Given the description of an element on the screen output the (x, y) to click on. 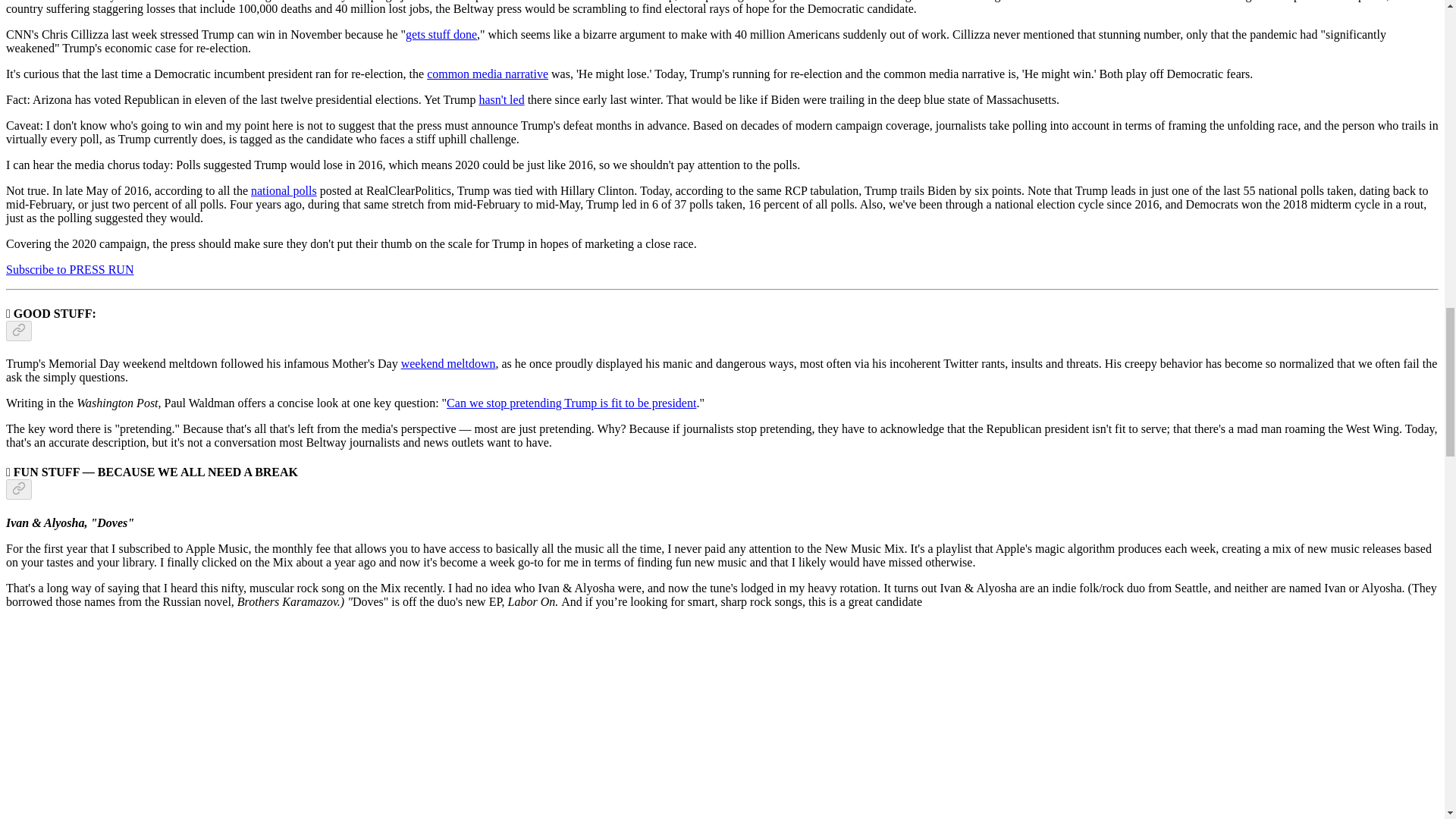
national polls (283, 190)
Subscribe to PRESS RUN (69, 269)
common media narrative (487, 73)
hasn't led (501, 99)
gets stuff done (441, 33)
